Given the description of an element on the screen output the (x, y) to click on. 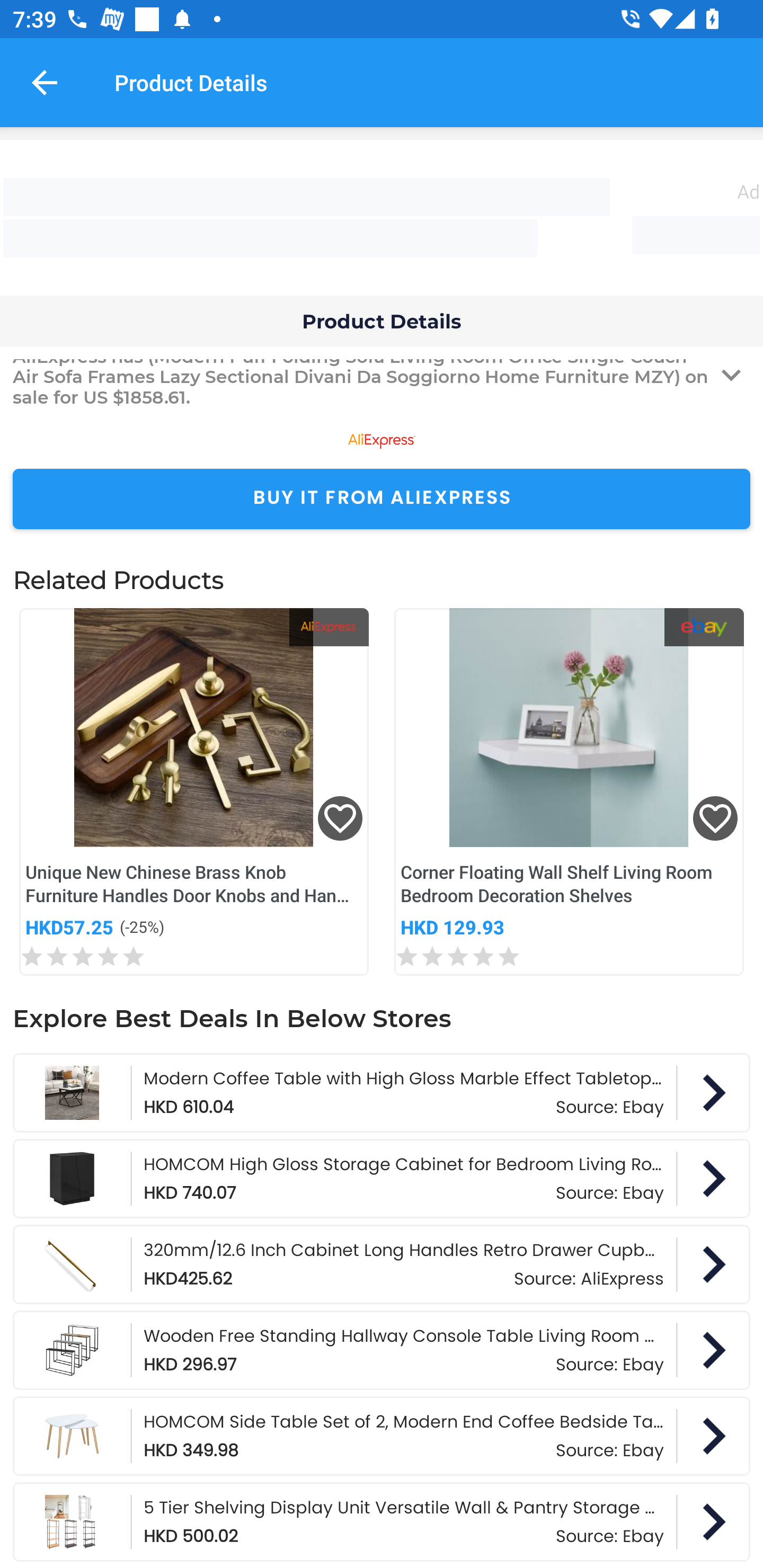
Navigate up (44, 82)
BUY IT FROM ALIEXPRESS (381, 499)
